Given the description of an element on the screen output the (x, y) to click on. 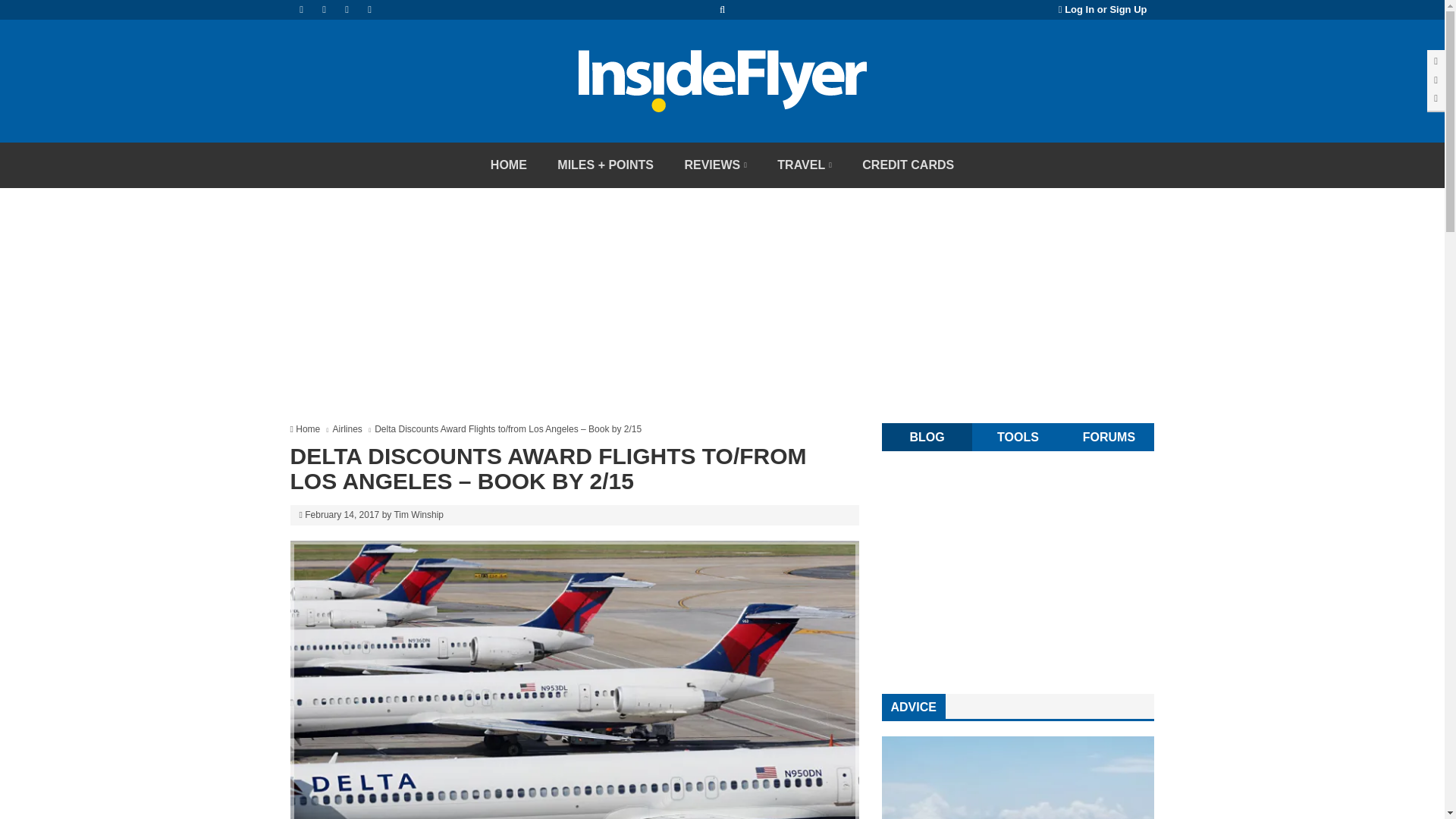
REVIEWS (714, 165)
Log In or Sign Up (1102, 9)
CREDIT CARDS (908, 165)
TRAVEL (803, 165)
HOME (508, 165)
